Given the description of an element on the screen output the (x, y) to click on. 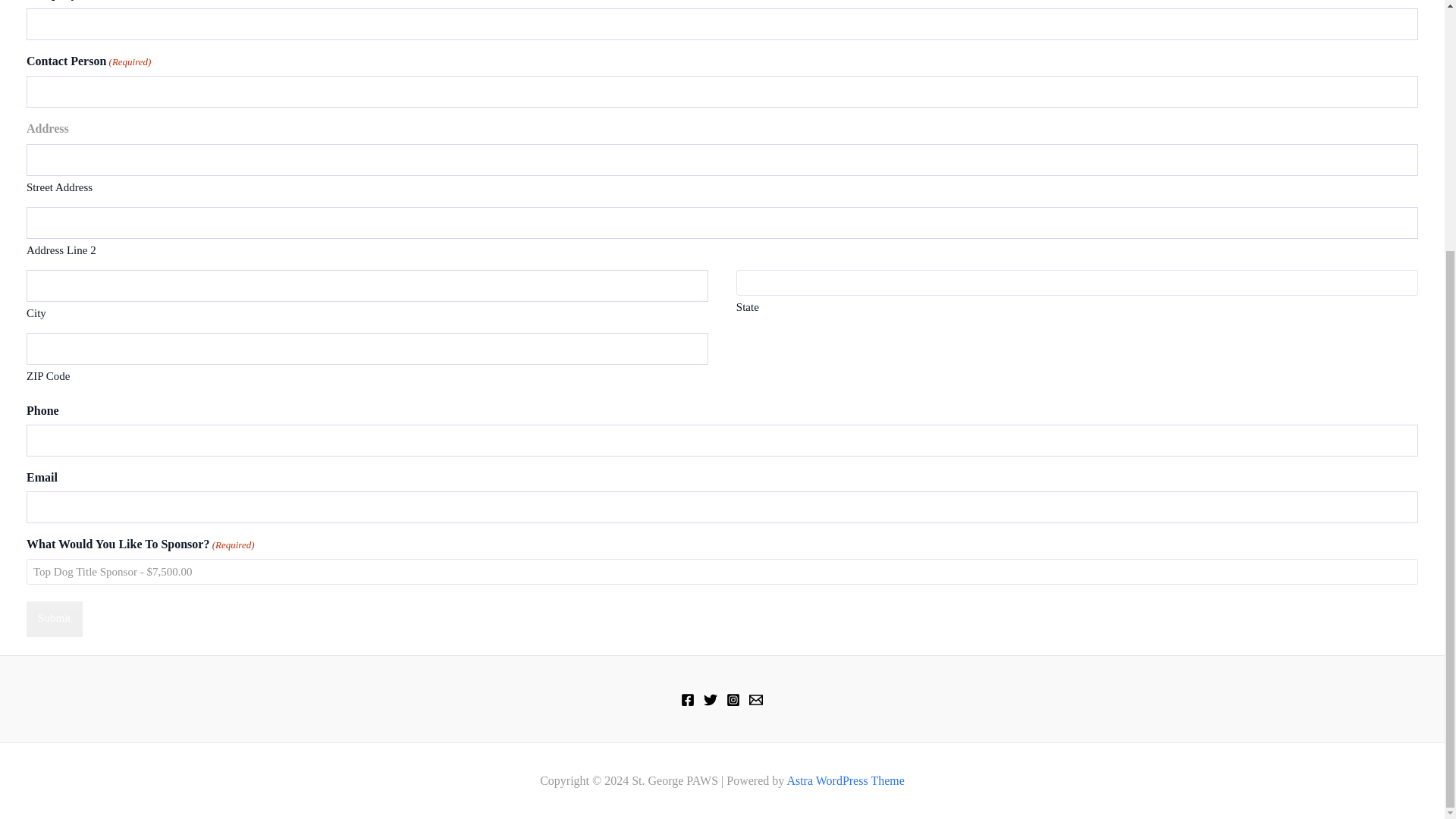
Submit (54, 619)
